Given the description of an element on the screen output the (x, y) to click on. 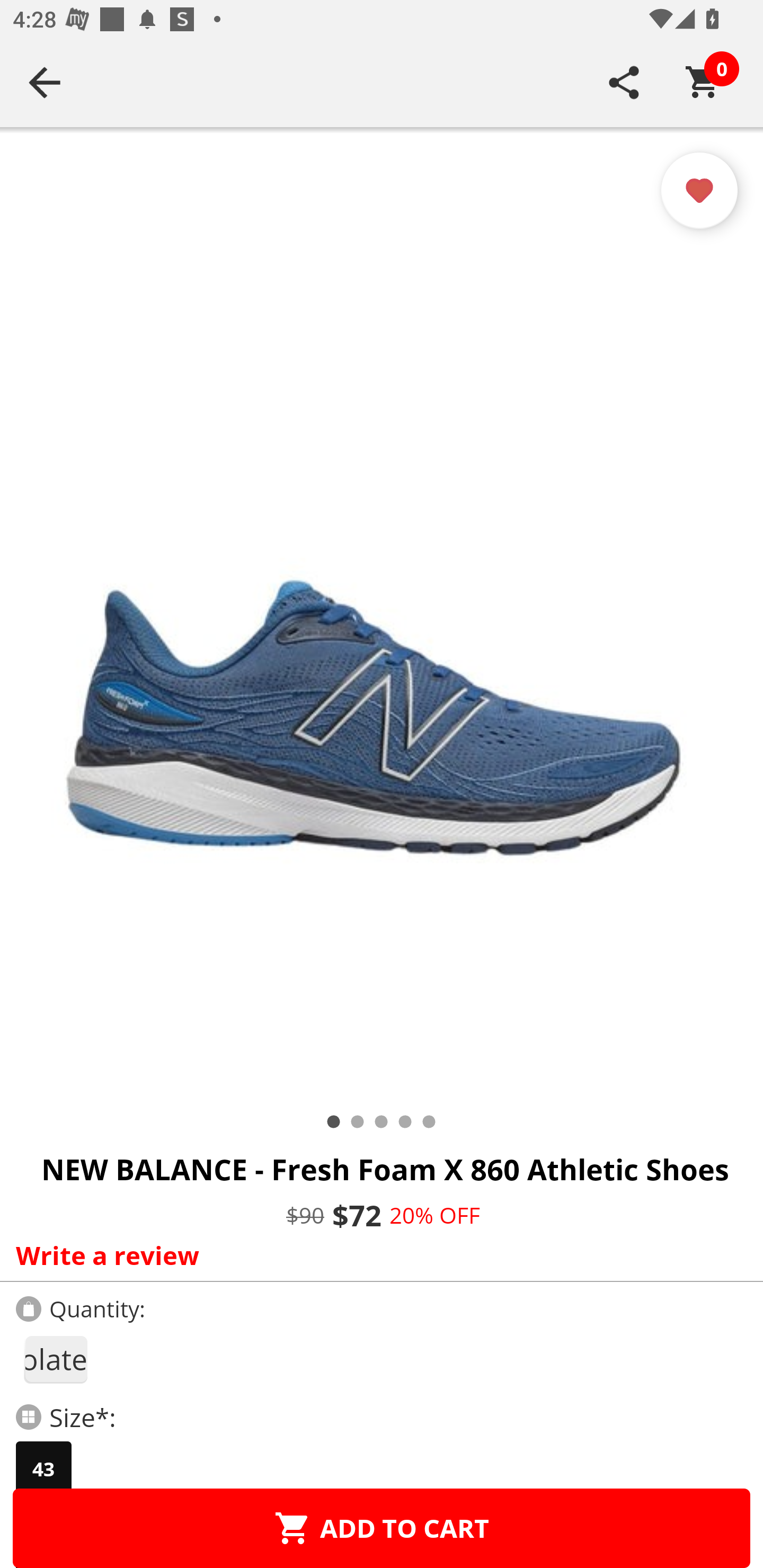
Navigate up (44, 82)
SHARE (623, 82)
Cart (703, 81)
Write a review (377, 1255)
1man shirtschocolate (55, 1358)
43 (43, 1468)
ADD TO CART (381, 1528)
